Given the description of an element on the screen output the (x, y) to click on. 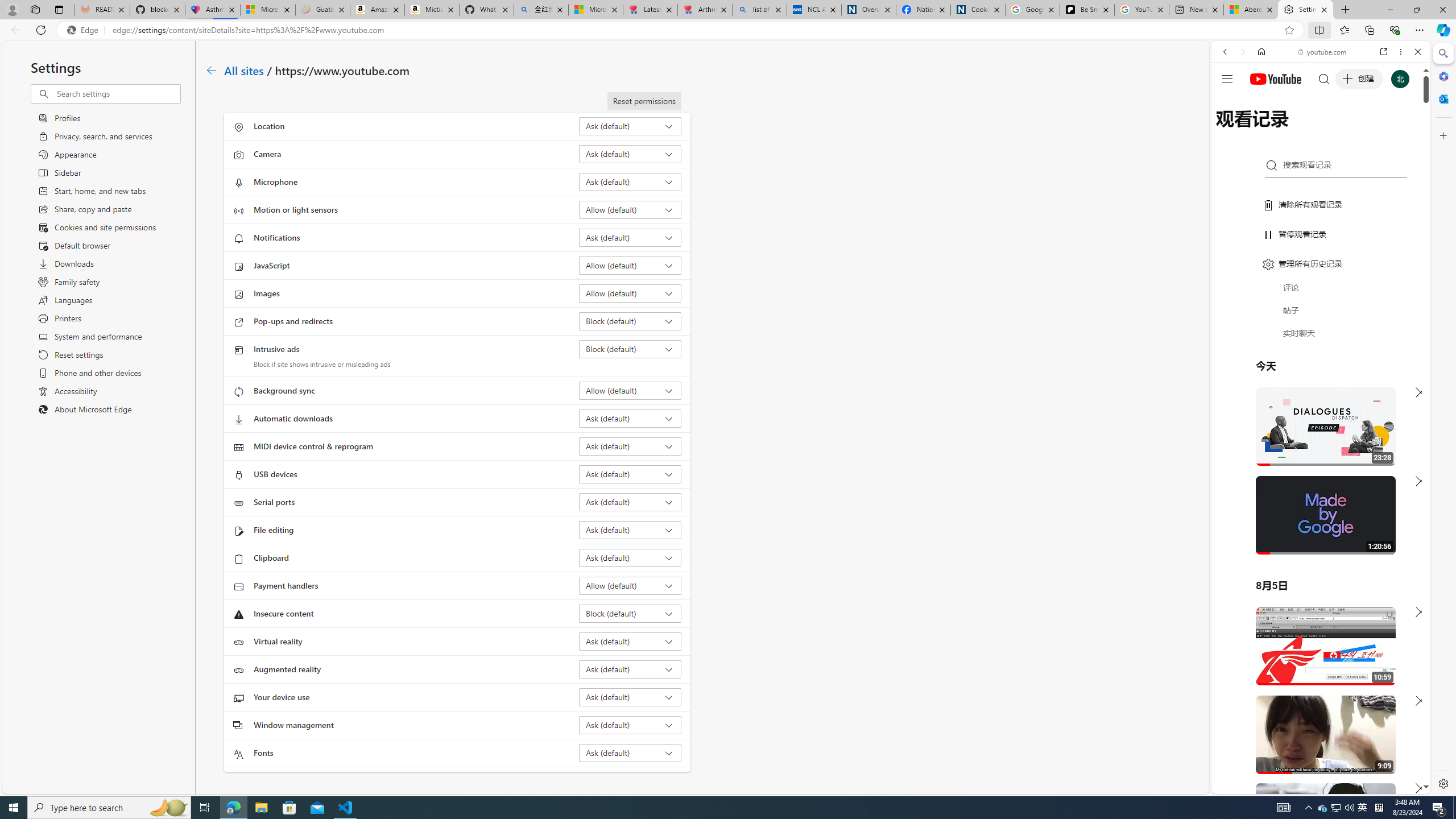
Notifications Ask (default) (630, 237)
Insecure content Block (default) (630, 613)
Reset permissions (644, 100)
Search Filter, WEB (1230, 129)
VIDEOS (1300, 130)
Pop-ups and redirects Block (default) (630, 321)
US[ju] (1249, 785)
Class: b_serphb (1404, 130)
Cookies (978, 9)
